Given the description of an element on the screen output the (x, y) to click on. 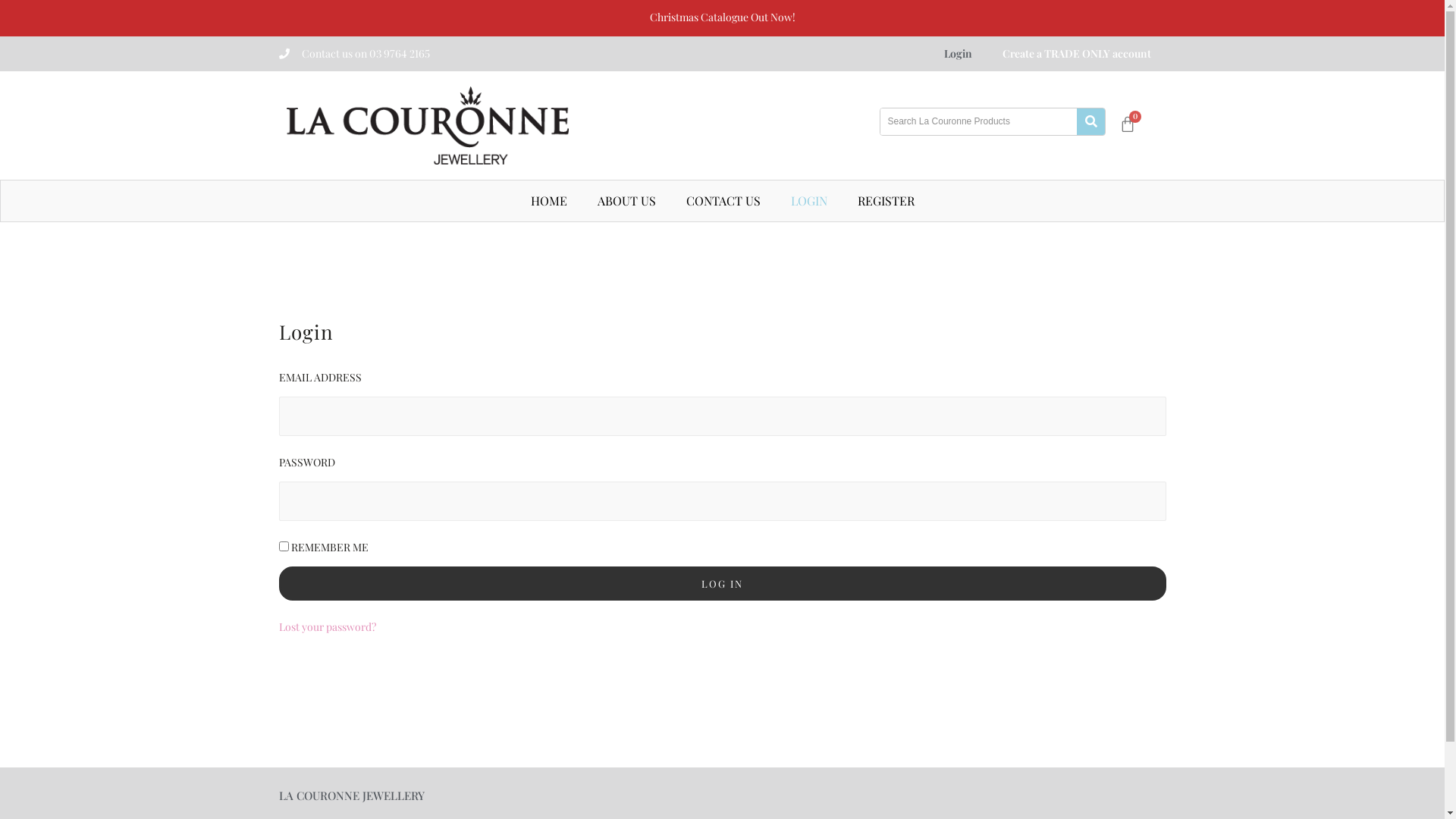
LOG IN Element type: text (722, 583)
ABOUT US Element type: text (626, 200)
Create a TRADE ONLY account Element type: text (1076, 53)
HOME Element type: text (548, 200)
LOGIN Element type: text (808, 200)
Contact us on 03 9764 2165 Element type: text (365, 53)
Lost your password? Element type: text (327, 626)
Login Element type: text (957, 53)
CONTACT US Element type: text (722, 200)
REGISTER Element type: text (884, 200)
